Given the description of an element on the screen output the (x, y) to click on. 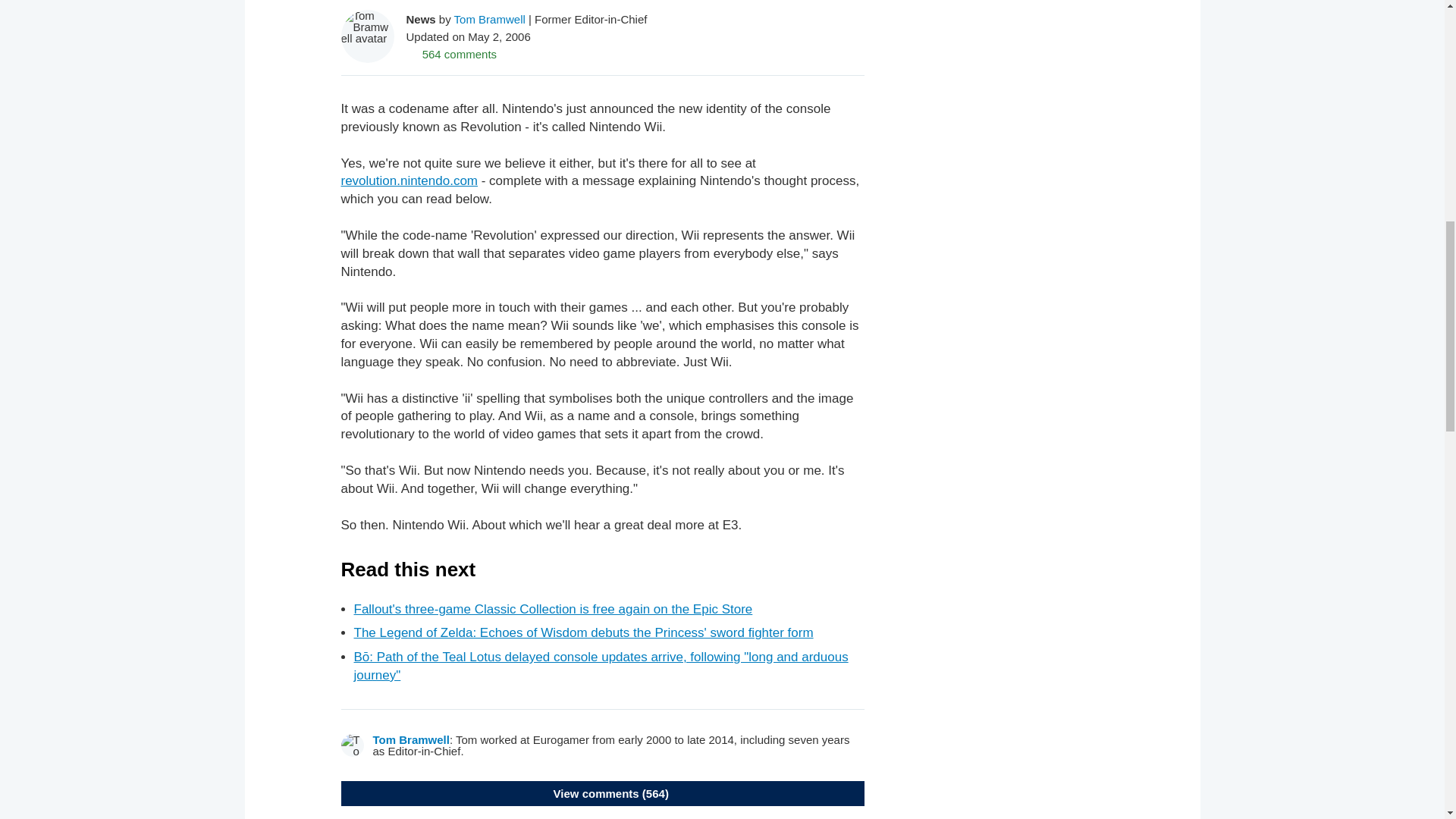
revolution.nintendo.com (409, 180)
564 comments (451, 52)
Tom Bramwell (410, 739)
Tom Bramwell (489, 18)
